Given the description of an element on the screen output the (x, y) to click on. 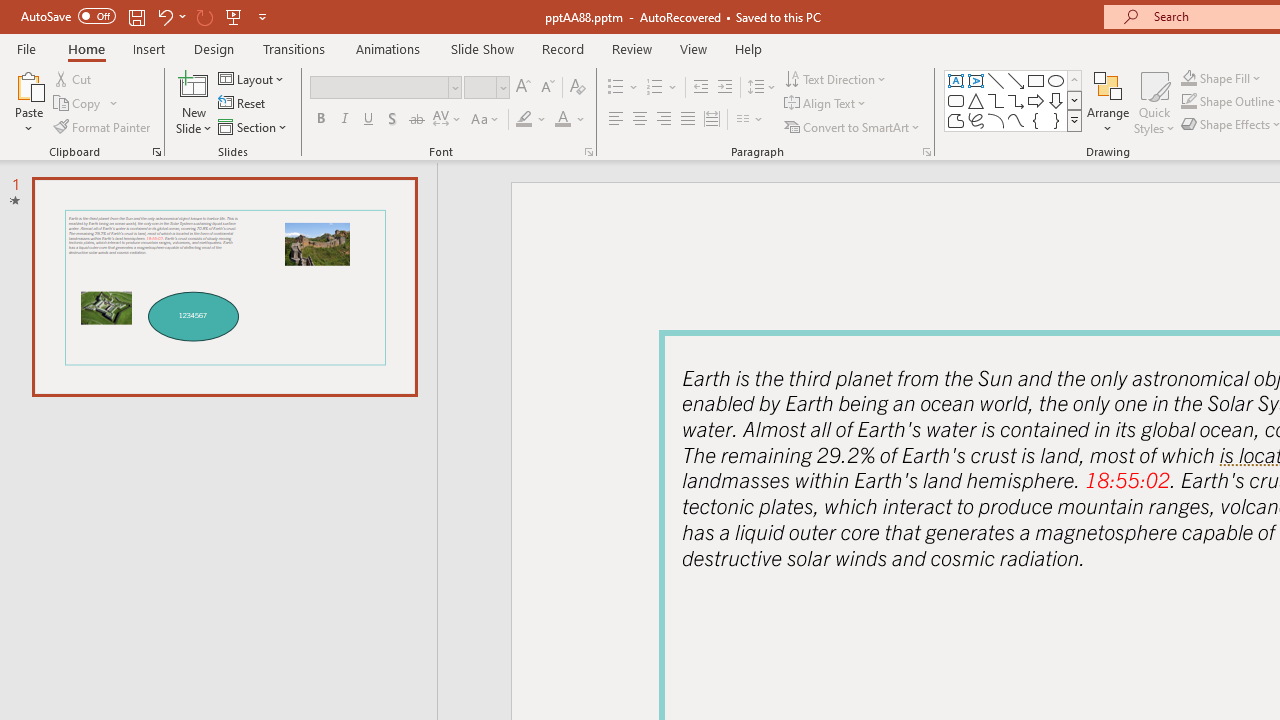
Shapes (1074, 120)
Line Arrow (1016, 80)
Format Painter (103, 126)
Align Text (826, 103)
Curve (1016, 120)
Arrange (1108, 102)
Arc (995, 120)
Connector: Elbow Arrow (1016, 100)
Rectangle: Rounded Corners (955, 100)
Align Left (616, 119)
